Given the description of an element on the screen output the (x, y) to click on. 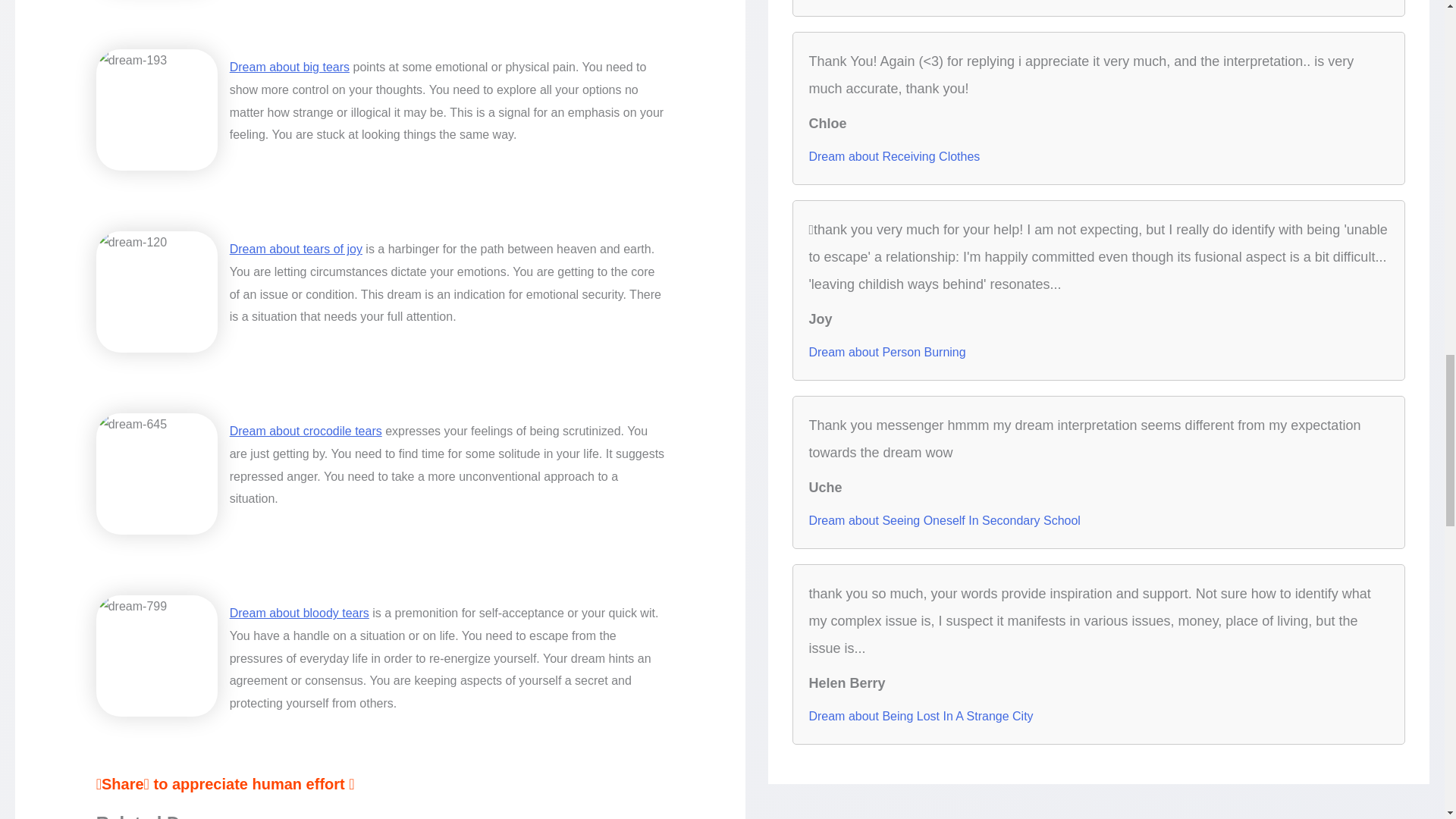
Dream about big tears (289, 66)
Dream about Receiving Clothes (893, 156)
Dream about crocodile tears (305, 431)
Dream about bloody tears (299, 612)
Dream about tears of joy (296, 248)
Dream about Person Burning (886, 352)
